Given the description of an element on the screen output the (x, y) to click on. 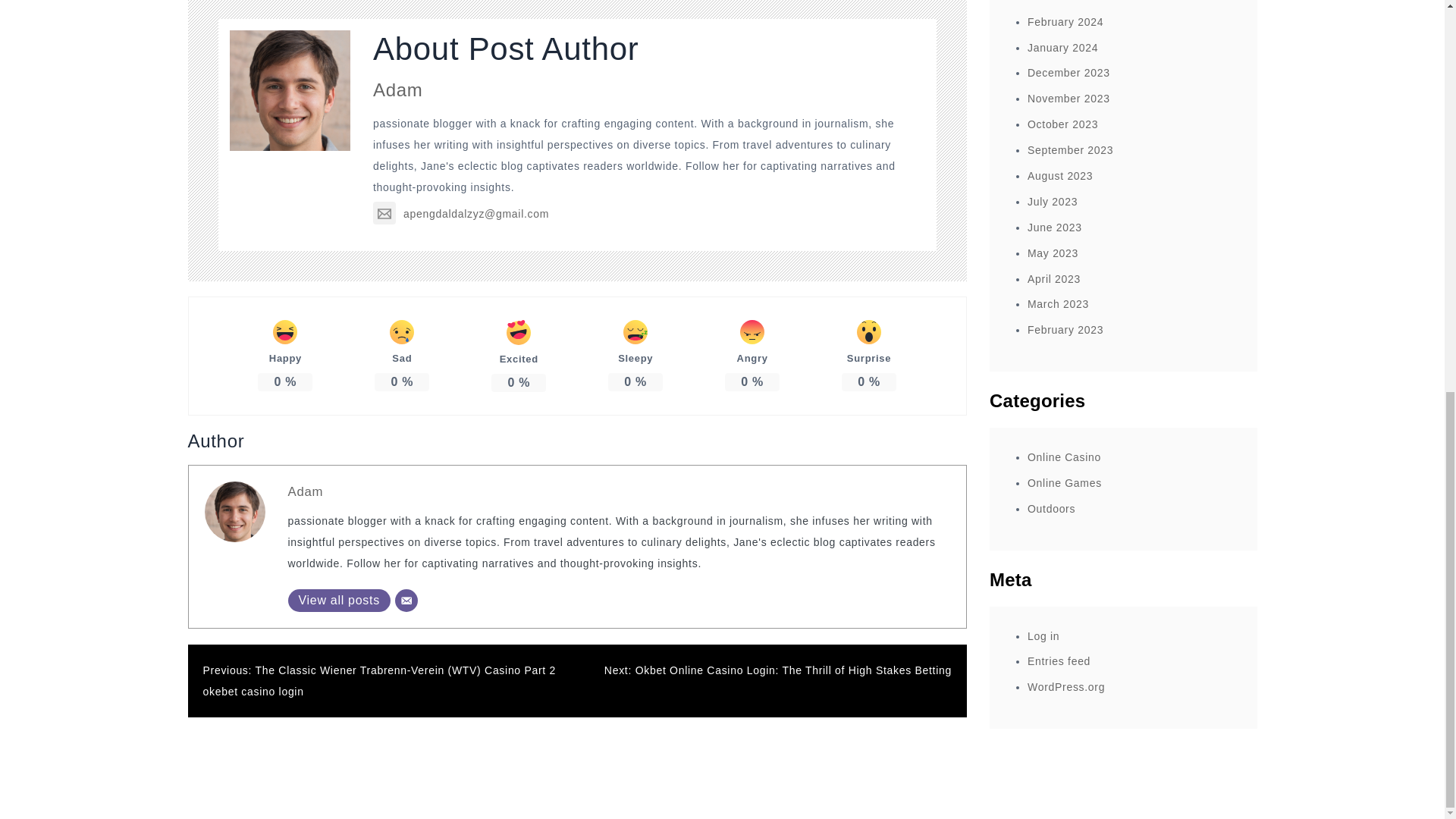
View all posts (339, 599)
Adam (397, 89)
View all posts (339, 599)
Adam (305, 491)
Adam (305, 491)
